Given the description of an element on the screen output the (x, y) to click on. 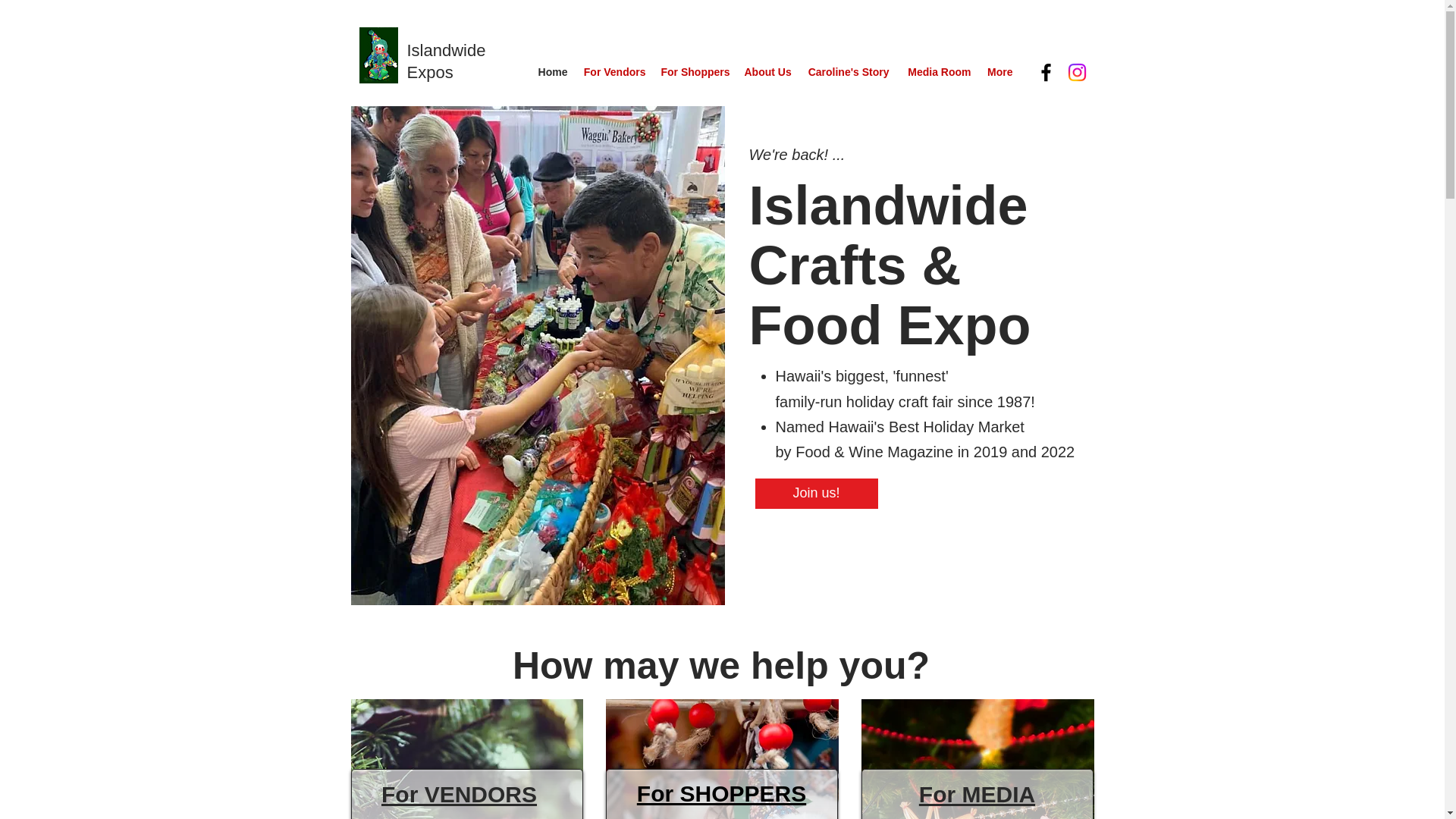
Islandwide Expos (445, 60)
For MEDIA (976, 794)
For Vendors (613, 71)
For SHOPPERS (721, 793)
For VENDORS (459, 794)
Media Room (937, 71)
For Shoppers (694, 71)
About Us (767, 71)
Home (551, 71)
Join us! (816, 493)
Caroline's Story (847, 71)
